Given the description of an element on the screen output the (x, y) to click on. 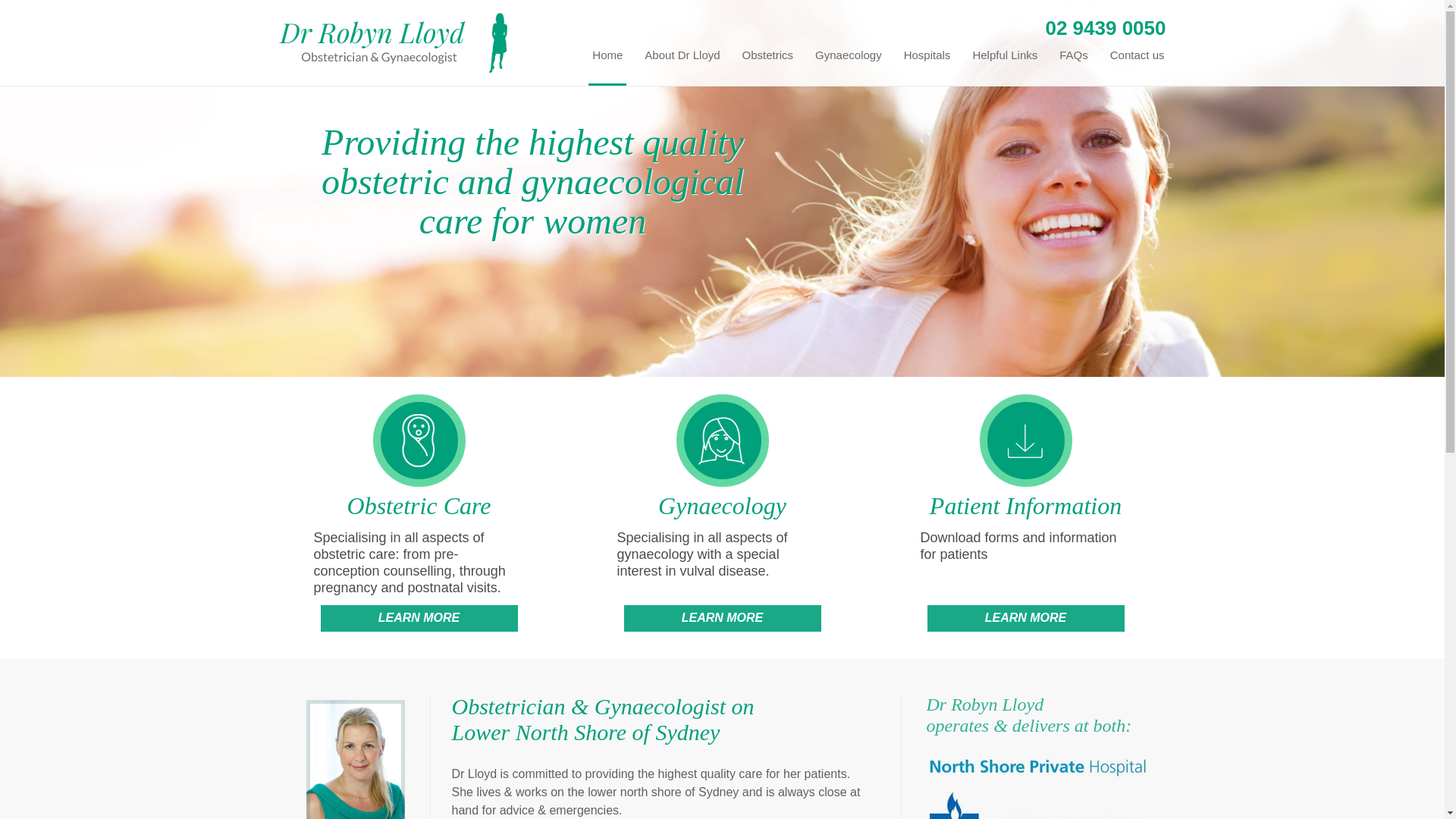
LEARN MORE Element type: text (721, 618)
Contact us Element type: text (1137, 66)
LEARN MORE Element type: text (1024, 618)
Obstetrics Element type: text (767, 66)
Home
(current) Element type: text (607, 66)
Hospitals Element type: text (927, 66)
LEARN MORE Element type: text (418, 618)
02 9439 0050 Element type: text (1104, 27)
FAQs Element type: text (1073, 66)
About Dr Lloyd Element type: text (681, 66)
Gynaecology Element type: text (848, 66)
Helpful Links Element type: text (1004, 66)
